Given the description of an element on the screen output the (x, y) to click on. 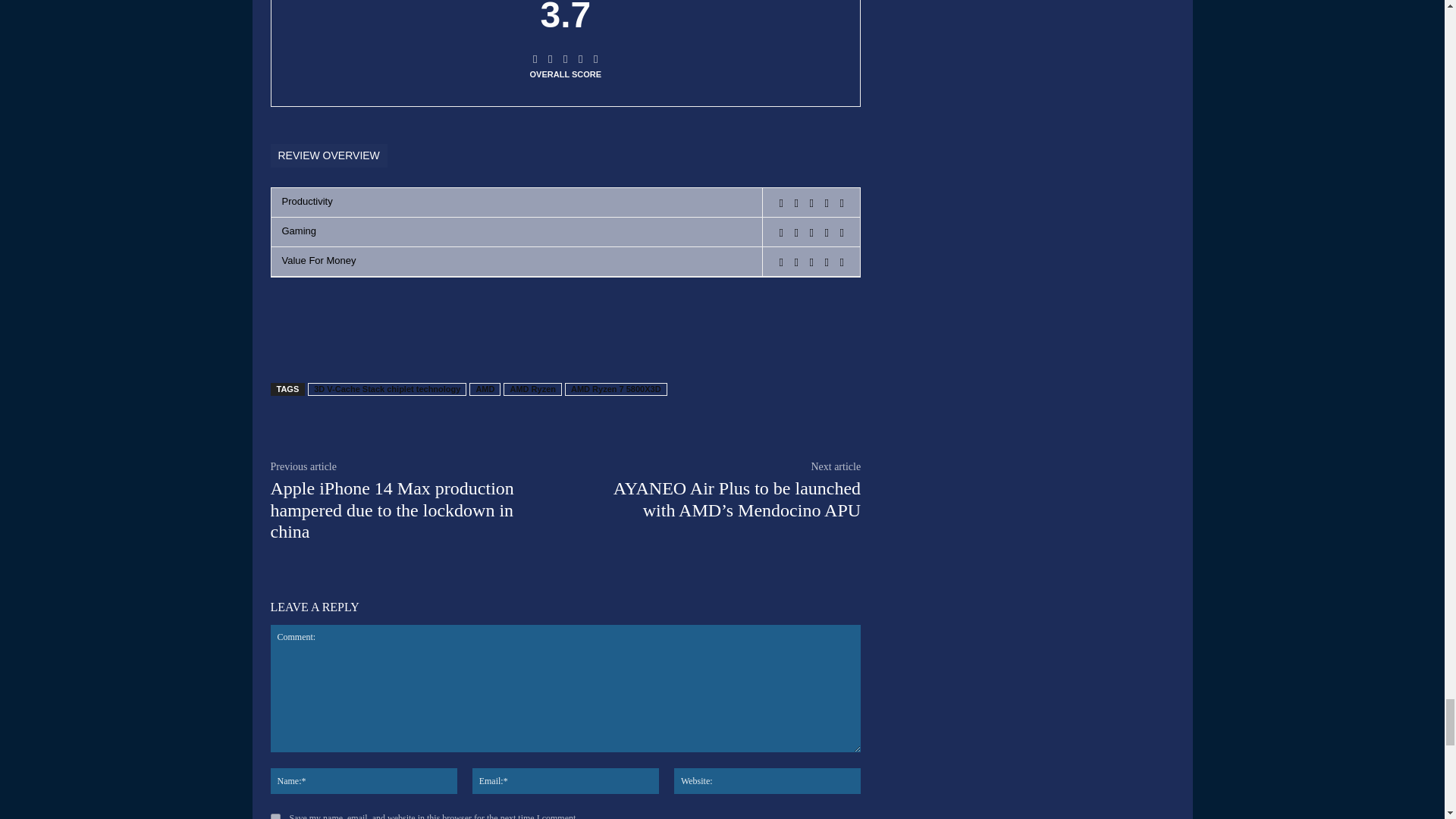
yes (274, 816)
